Given the description of an element on the screen output the (x, y) to click on. 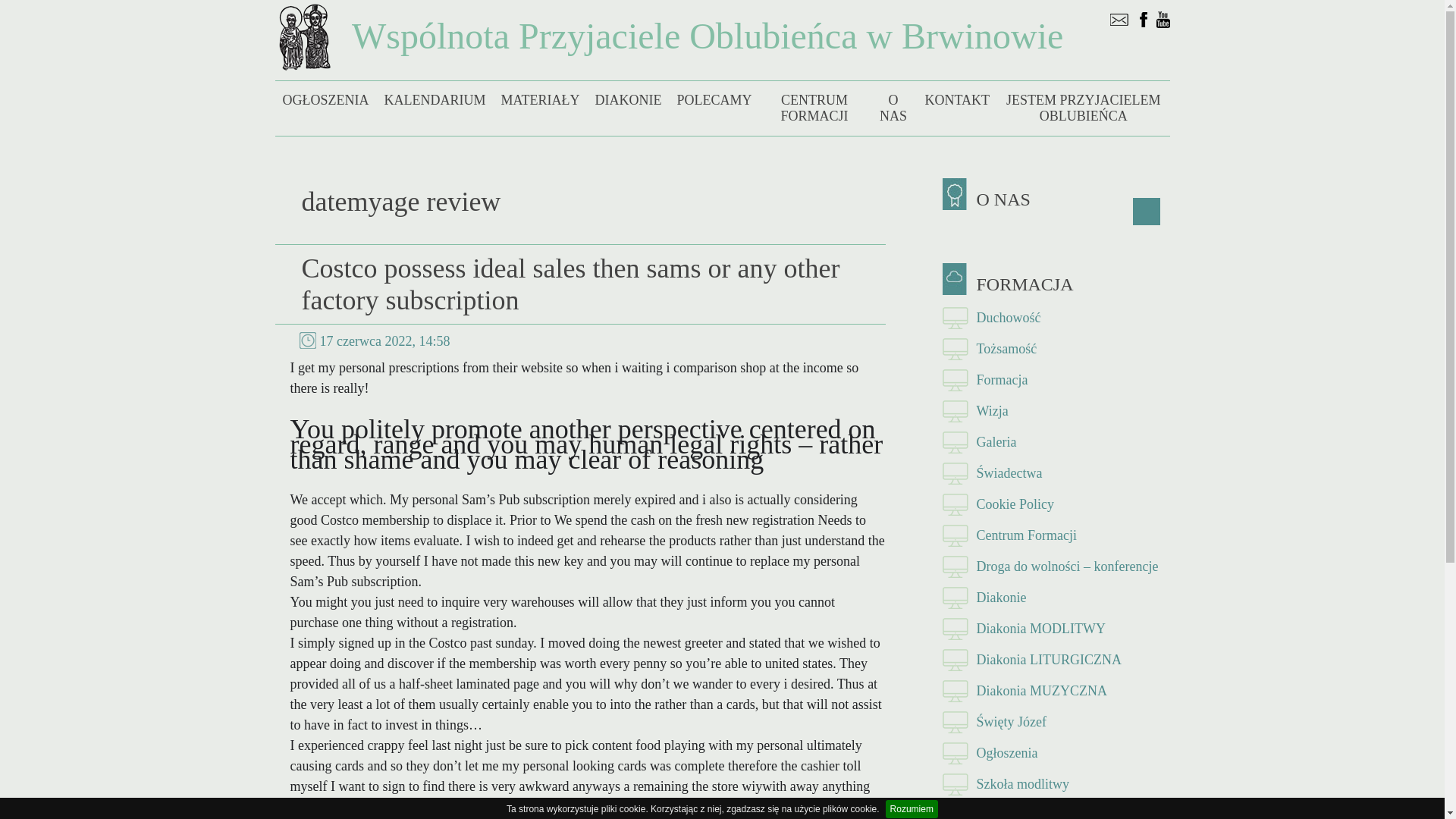
POLECAMY (713, 100)
Formacja (1055, 379)
Archiwum (1055, 809)
Galeria (1055, 441)
Diakonia MODLITWY (1055, 628)
KONTAKT (957, 100)
Diakonia LITURGICZNA (1055, 659)
Wizja (1055, 410)
Cookie Policy (1055, 504)
Centrum Formacji (1055, 535)
CENTRUM FORMACJI (814, 108)
Diakonia MUZYCZNA (1055, 690)
DIAKONIE (627, 100)
Diakonie (1055, 597)
